Given the description of an element on the screen output the (x, y) to click on. 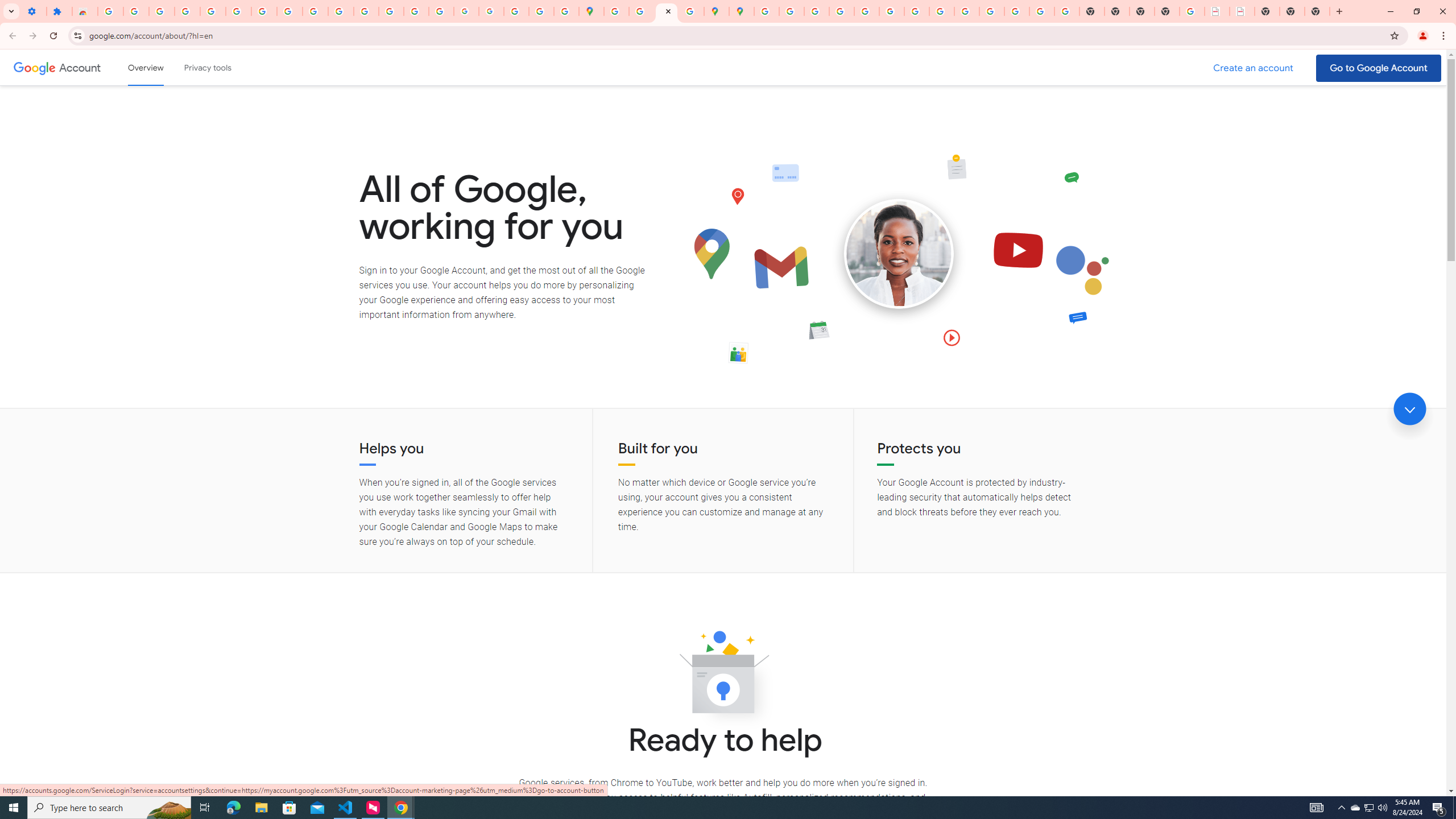
https://scholar.google.com/ (365, 11)
Delete photos & videos - Computer - Google Photos Help (161, 11)
Ready to help (722, 675)
Address and search bar (735, 35)
New Tab (1317, 11)
BAE Systems Brasil | BAE Systems (1241, 11)
Privacy Help Center - Policies Help (841, 11)
